Given the description of an element on the screen output the (x, y) to click on. 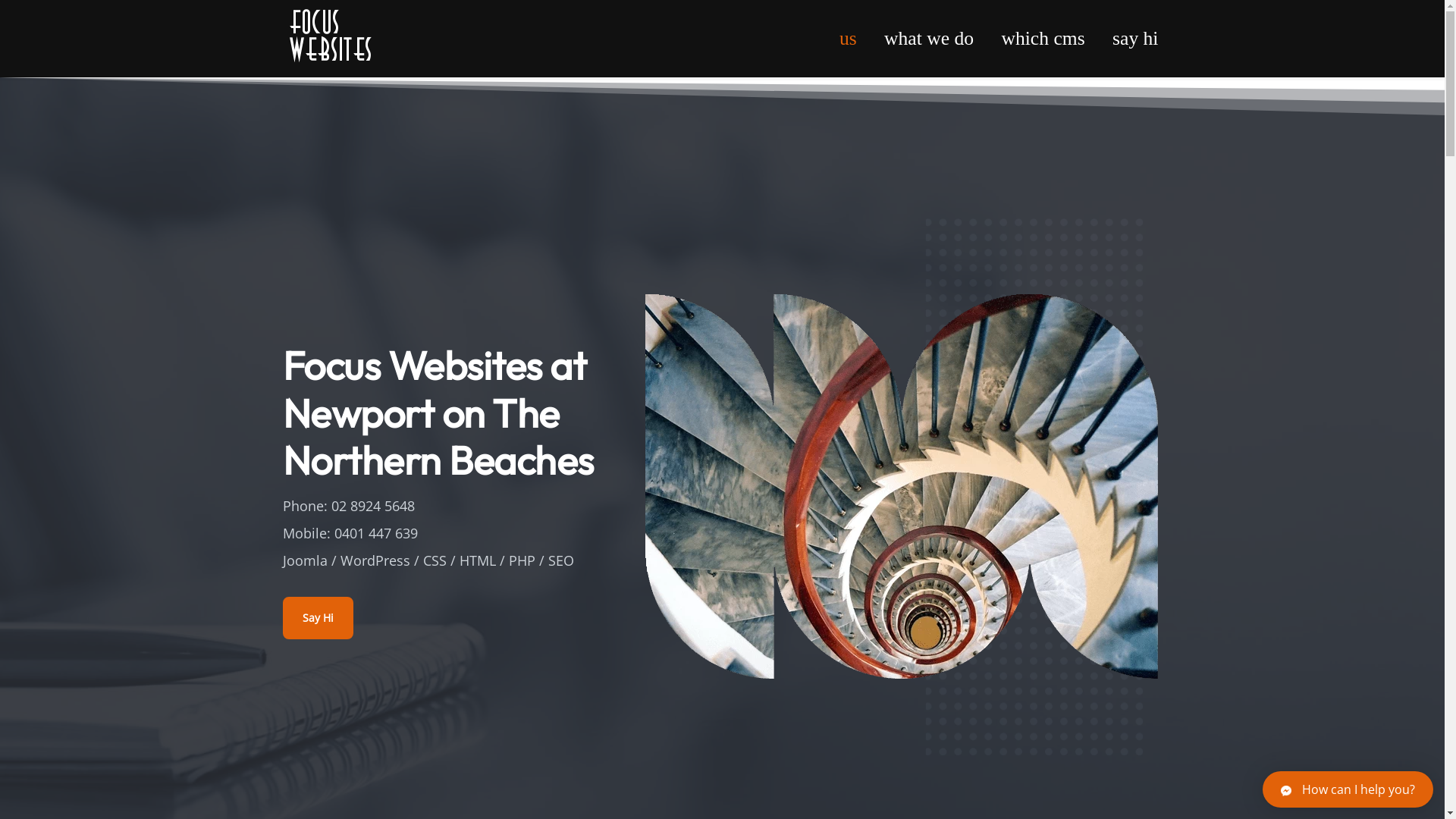
Say Hi Element type: text (317, 617)
us Element type: text (847, 38)
say hi Element type: text (1128, 38)
graham@focuswebsites.com.au Element type: text (832, 670)
